Given the description of an element on the screen output the (x, y) to click on. 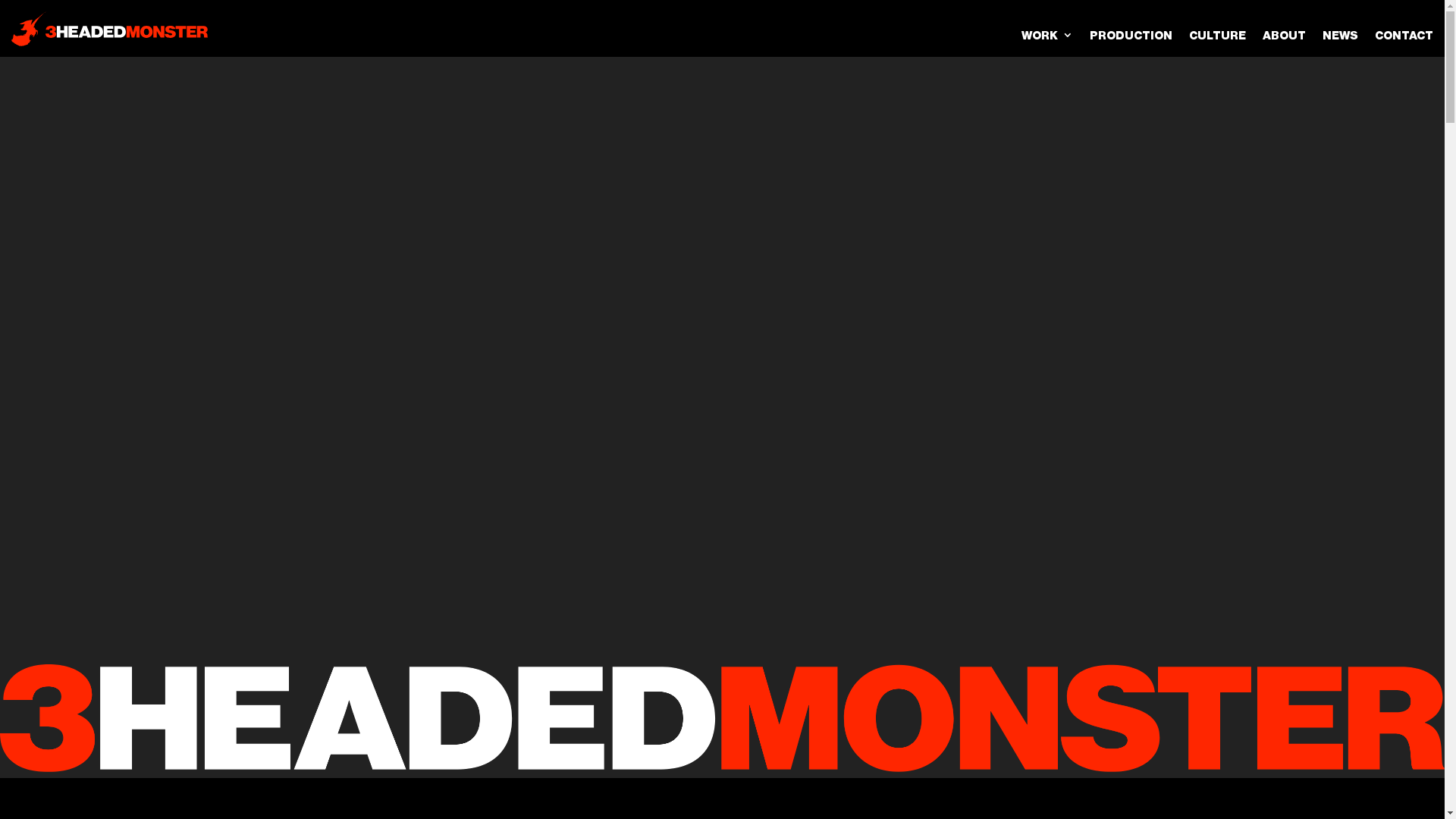
ABOUT Element type: text (1283, 28)
PRODUCTION Element type: text (1130, 28)
WORK Element type: text (1047, 28)
CULTURE Element type: text (1217, 28)
CONTACT Element type: text (1403, 28)
NEWS Element type: text (1340, 28)
3 Headed Monster Element type: hover (722, 717)
